Given the description of an element on the screen output the (x, y) to click on. 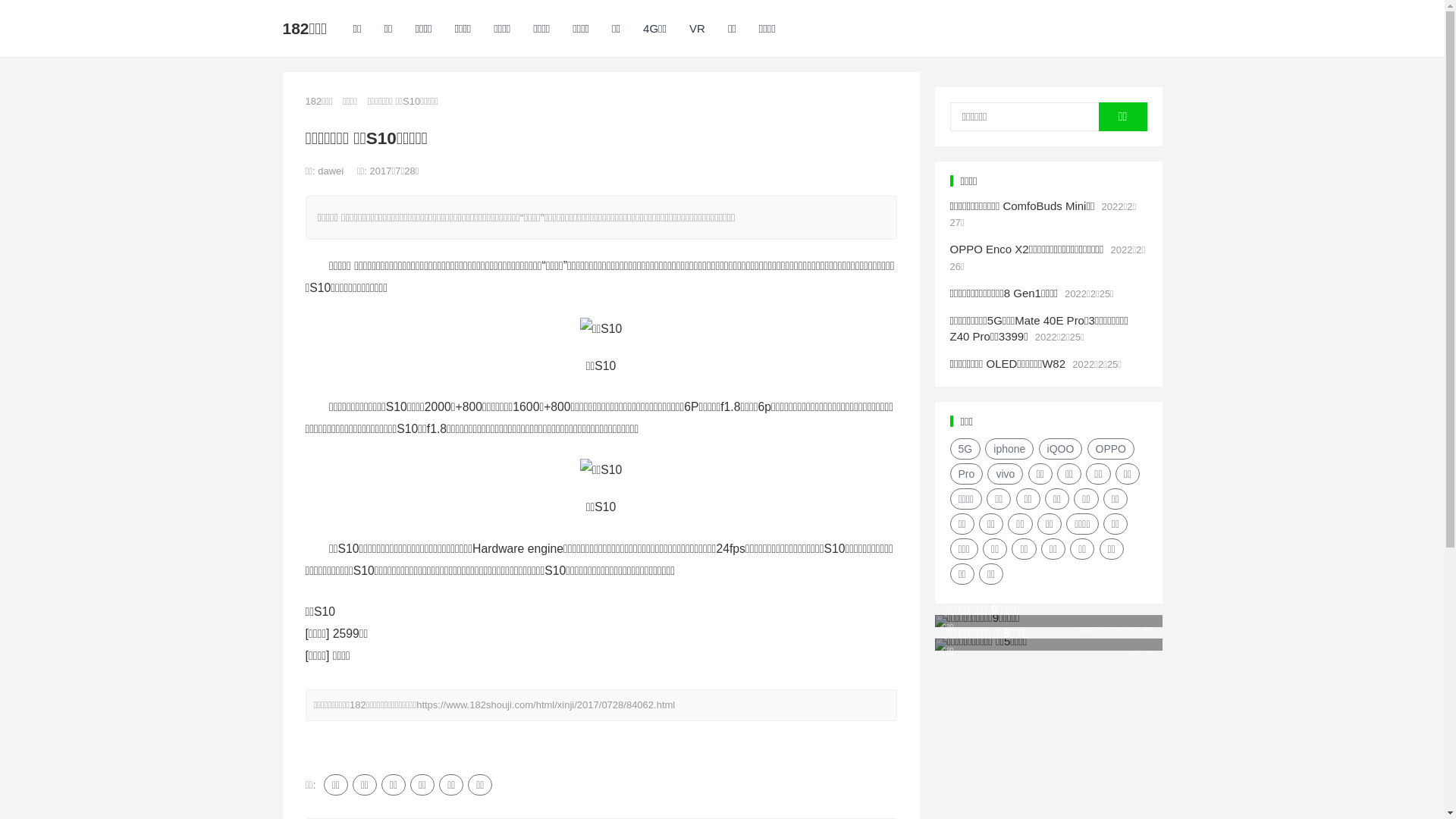
VR Element type: text (696, 28)
OPPO Element type: text (1110, 448)
iQOO Element type: text (1060, 448)
dawei Element type: text (331, 170)
5G Element type: text (964, 448)
iphone Element type: text (1009, 448)
Pro Element type: text (965, 473)
vivo Element type: text (1004, 473)
https://www.182shouji.com/html/xinji/2017/0728/84062.html Element type: text (545, 704)
